Given the description of an element on the screen output the (x, y) to click on. 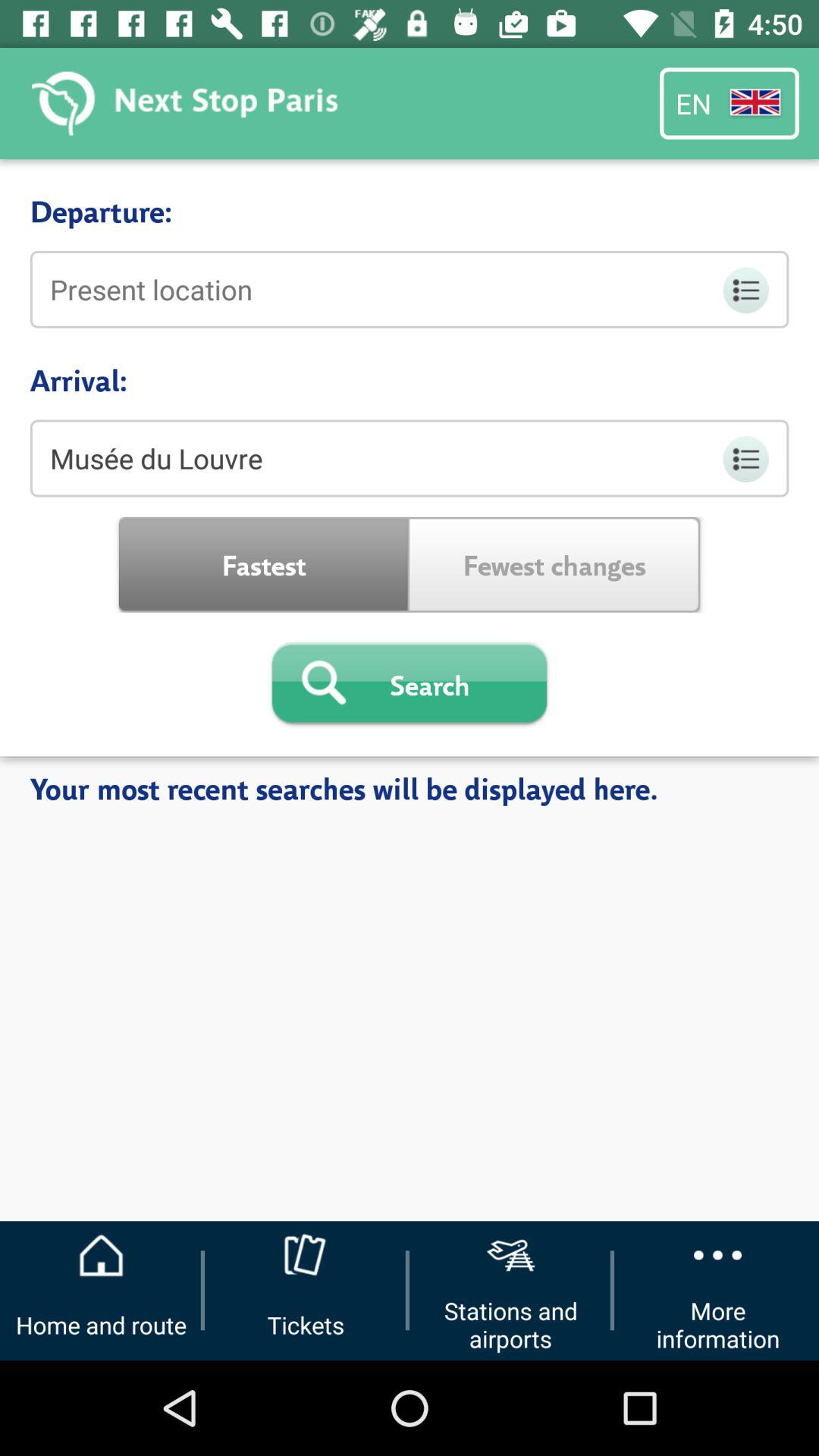
click on the text field below departure (409, 289)
click the search button on the web page (409, 684)
go to the icon shown above tickets (305, 1255)
click on the text field below arrival (409, 458)
select the icon above the button stations and airports on the web page (510, 1255)
